Given the description of an element on the screen output the (x, y) to click on. 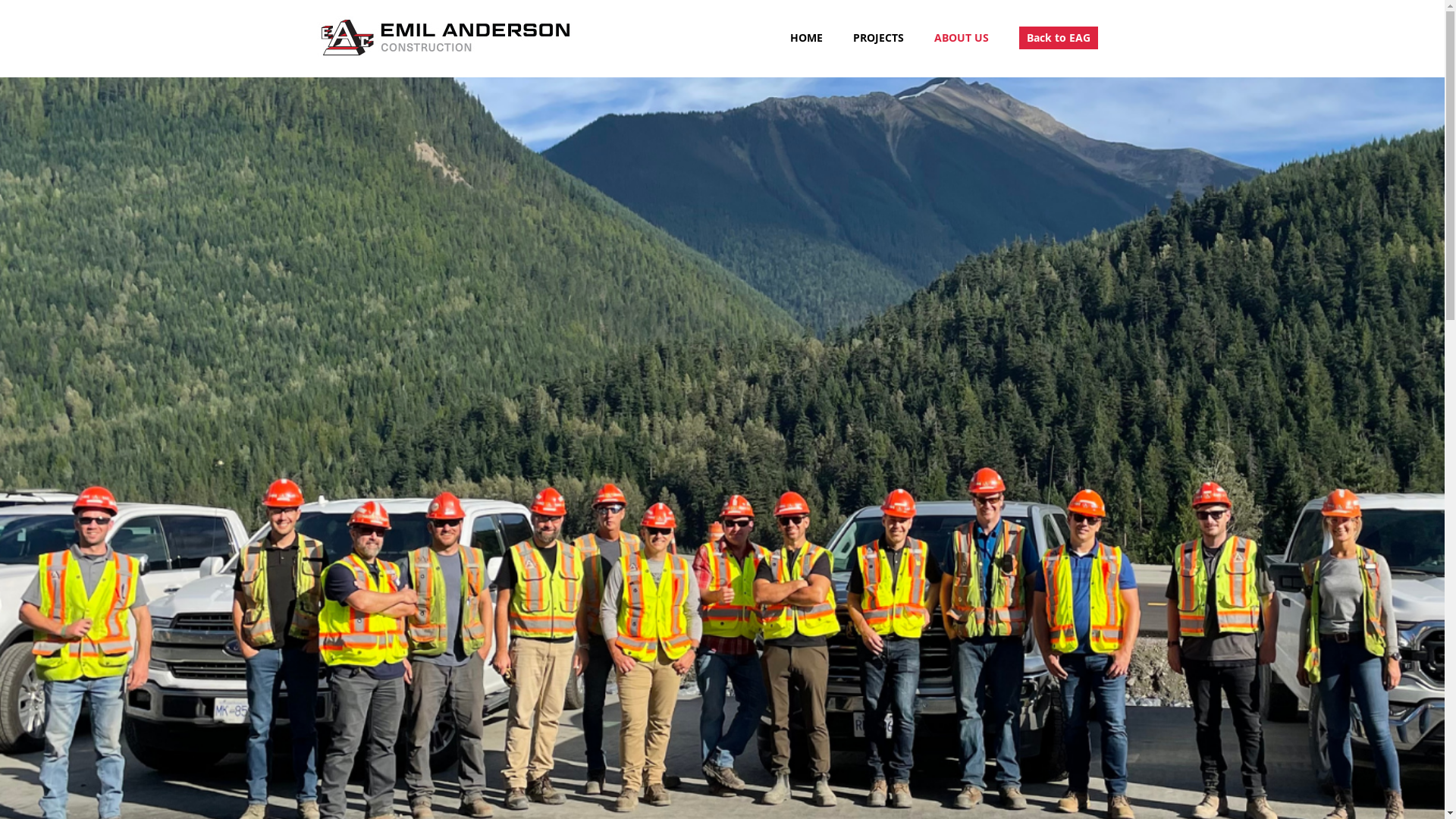
HOME Element type: text (806, 37)
Back to EAG Element type: text (1058, 37)
PROJECTS Element type: text (877, 37)
ABOUT US Element type: text (961, 37)
